Given the description of an element on the screen output the (x, y) to click on. 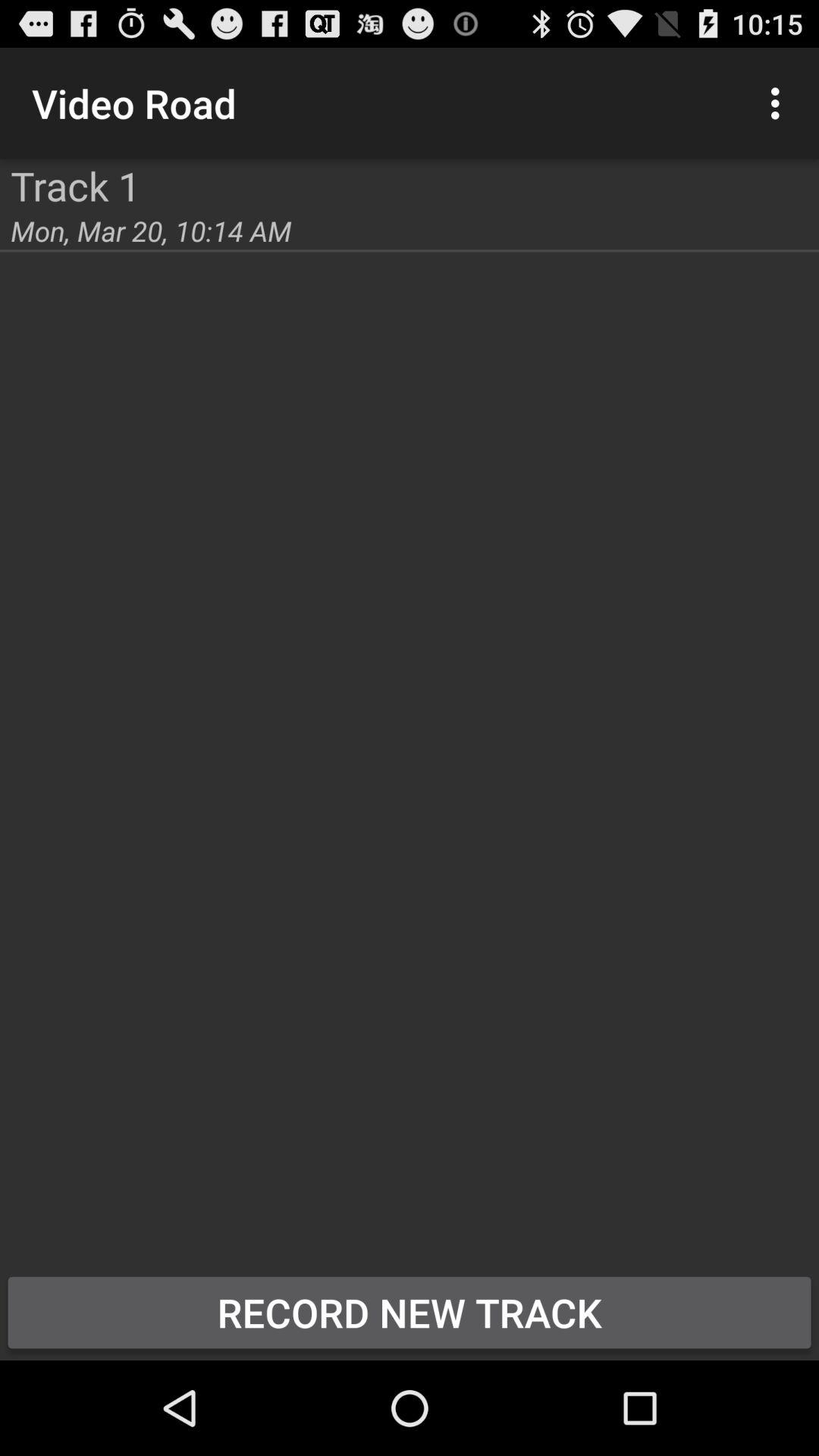
press the icon at the top right corner (779, 103)
